Given the description of an element on the screen output the (x, y) to click on. 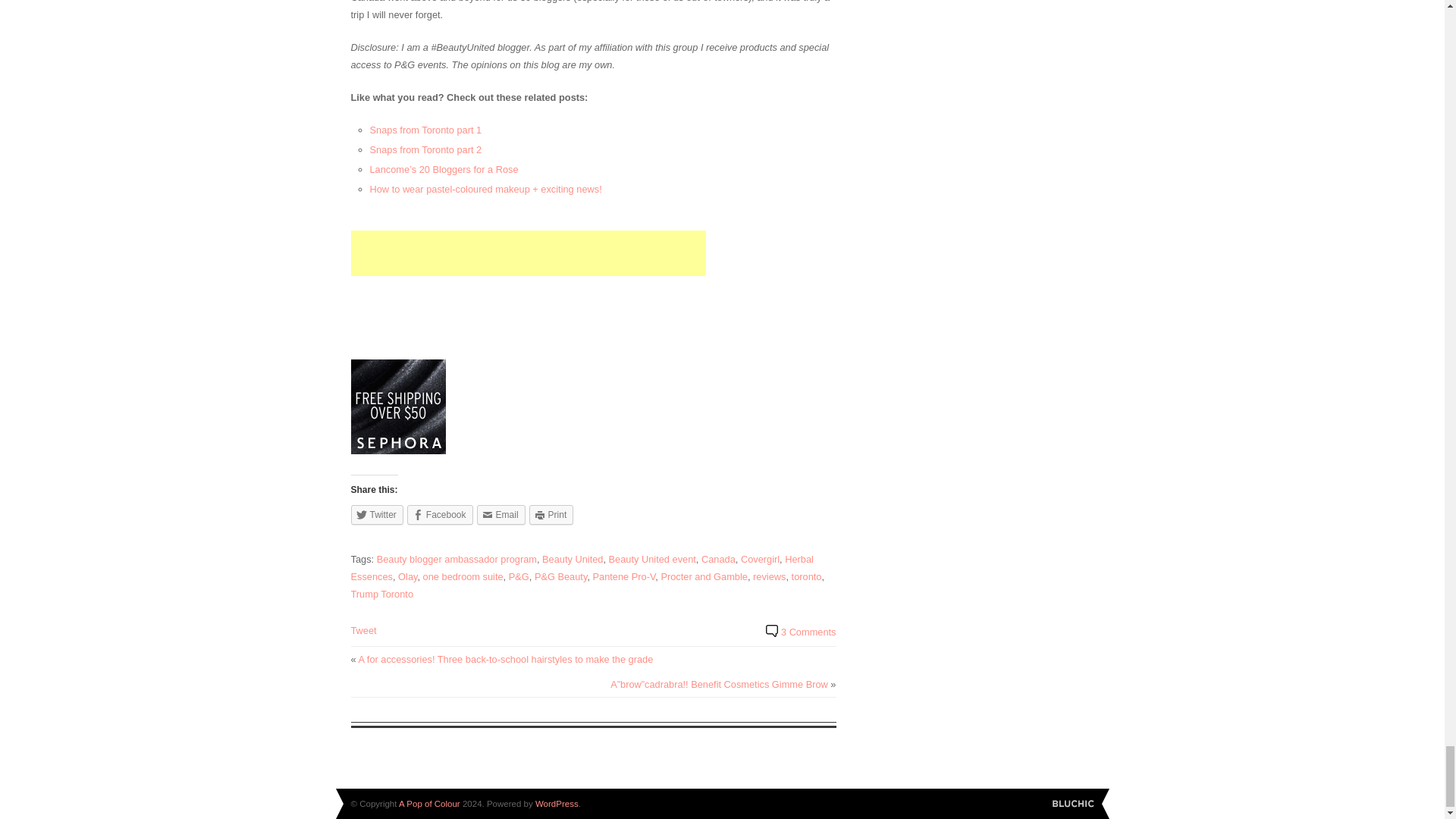
Click to share on Twitter (376, 514)
Click to share on Facebook (440, 514)
Snaps from Toronto part 2 (425, 149)
Click to print (551, 514)
Snaps from Toronto part 1 (425, 129)
Click to email this to a friend (501, 514)
Adelle theme designed by BluChic (1073, 804)
